Given the description of an element on the screen output the (x, y) to click on. 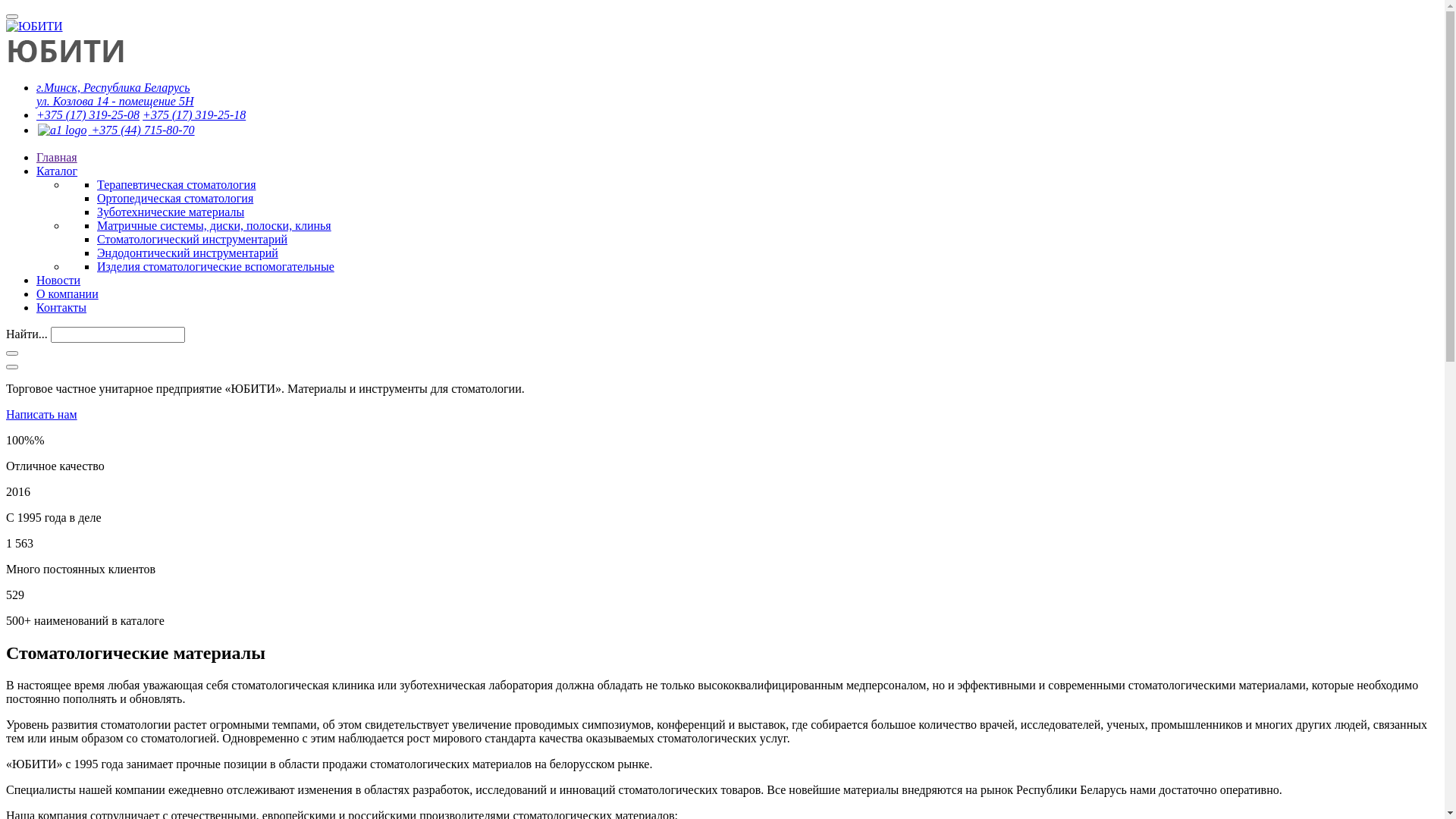
+375 (17) 319-25-08 Element type: text (87, 114)
+375 (44) 715-80-70 Element type: text (115, 129)
+375 (17) 319-25-18 Element type: text (193, 114)
